Given the description of an element on the screen output the (x, y) to click on. 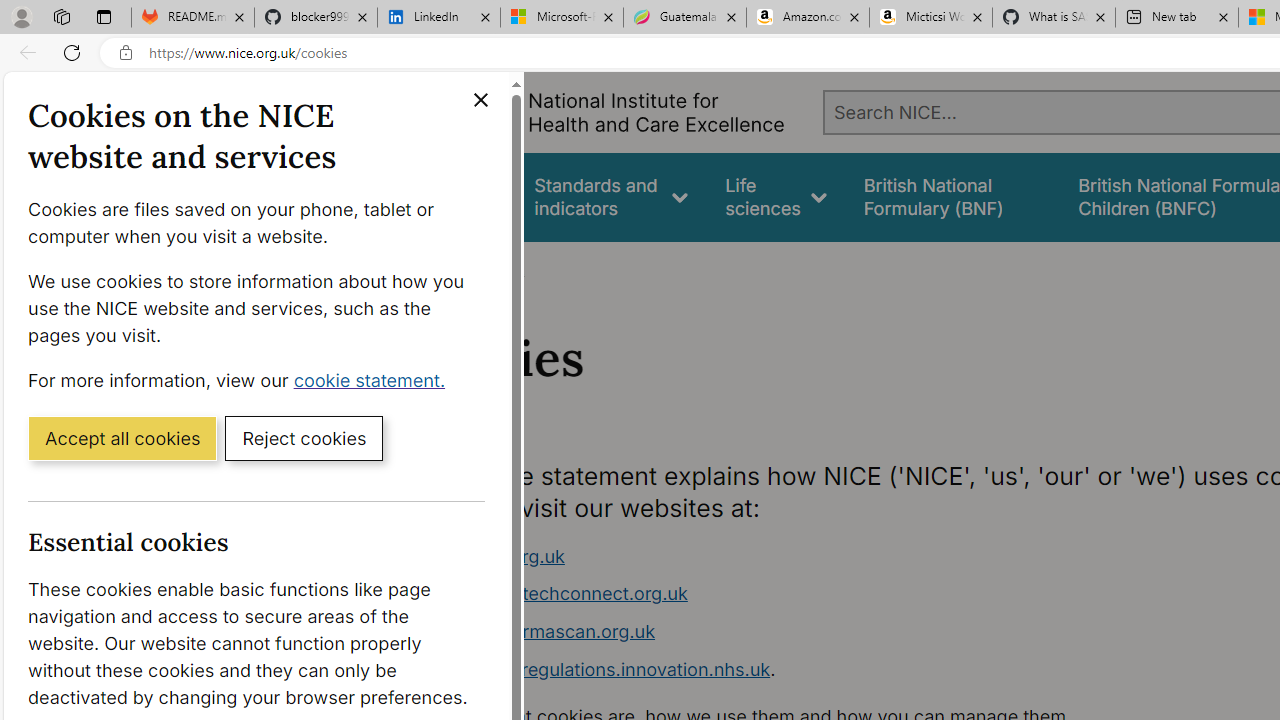
Workspaces (61, 16)
Back (24, 52)
www.nice.org.uk (492, 556)
Guidance (458, 196)
Refresh (72, 52)
About (498, 268)
Personal Profile (21, 16)
About (498, 268)
www.healthtechconnect.org.uk (554, 593)
www.healthtechconnect.org.uk (796, 594)
www.ukpharmascan.org.uk (538, 631)
www.digitalregulations.innovation.nhs.uk. (796, 669)
